Given the description of an element on the screen output the (x, y) to click on. 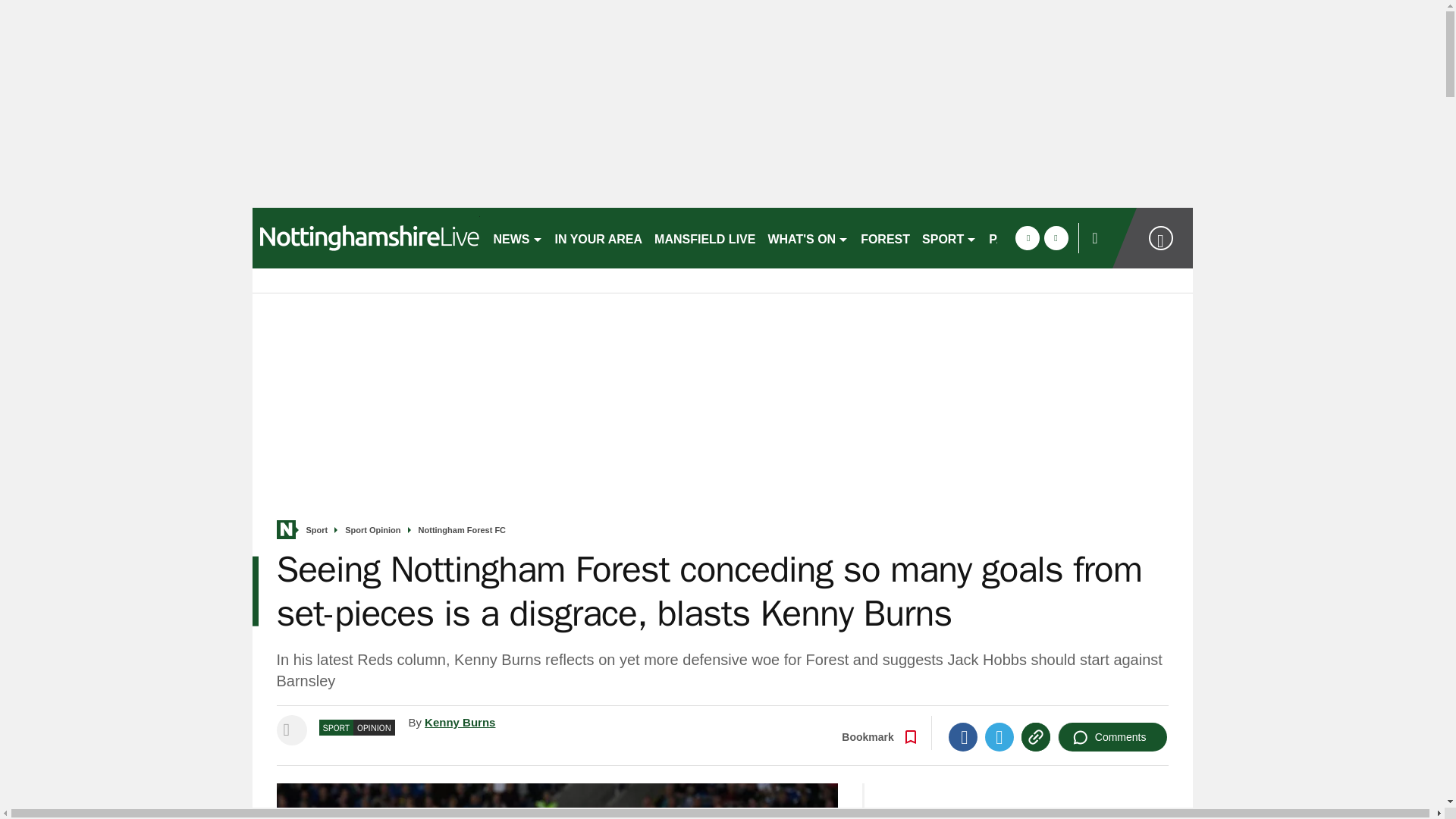
FOREST (884, 238)
Twitter (999, 736)
facebook (1026, 238)
twitter (1055, 238)
nottinghampost (365, 238)
Facebook (962, 736)
SPORT (948, 238)
MANSFIELD LIVE (704, 238)
IN YOUR AREA (598, 238)
Comments (1112, 736)
PARTNER STORIES (1045, 238)
NEWS (517, 238)
WHAT'S ON (807, 238)
